Given the description of an element on the screen output the (x, y) to click on. 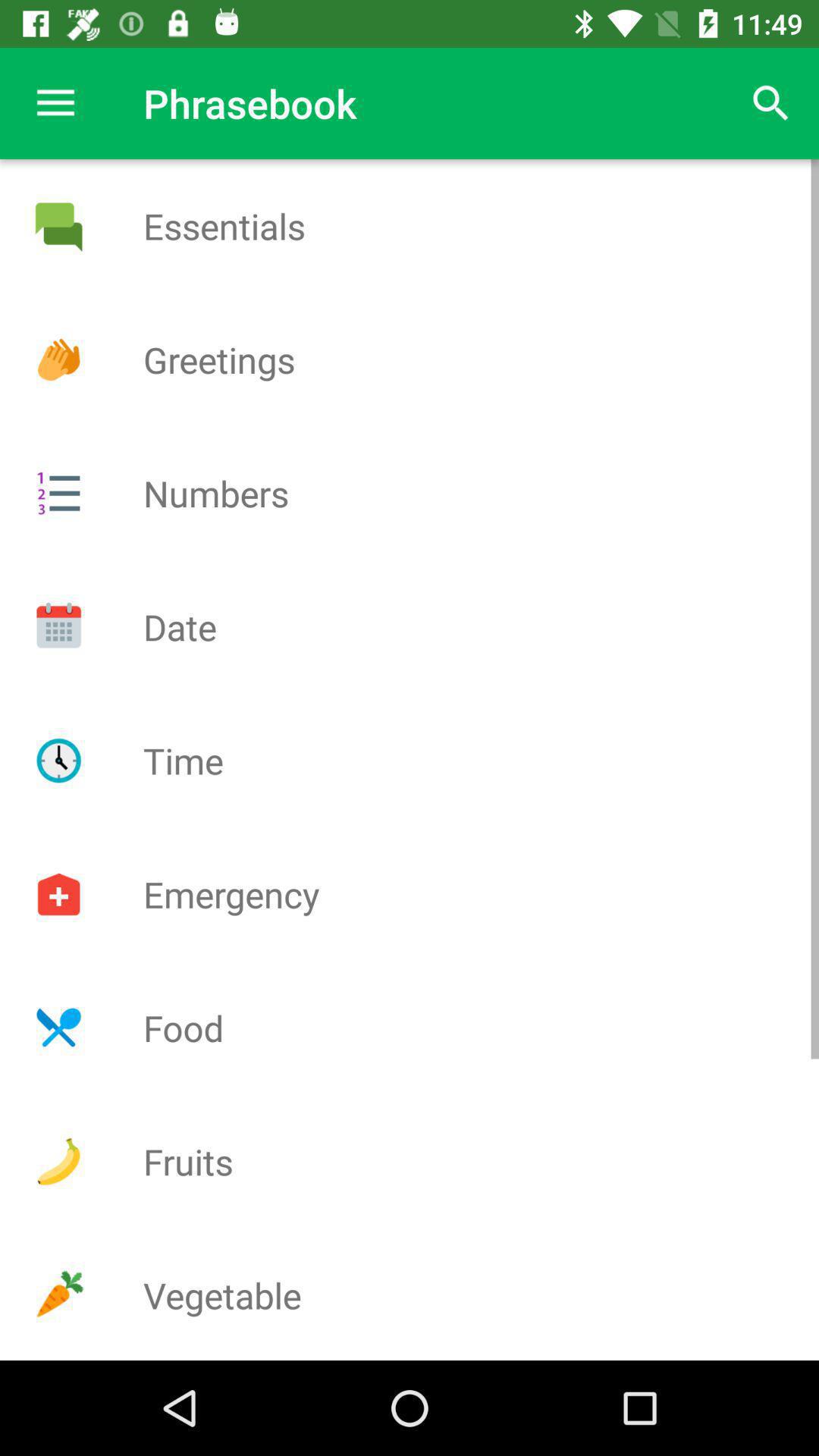
adv page (58, 1027)
